Given the description of an element on the screen output the (x, y) to click on. 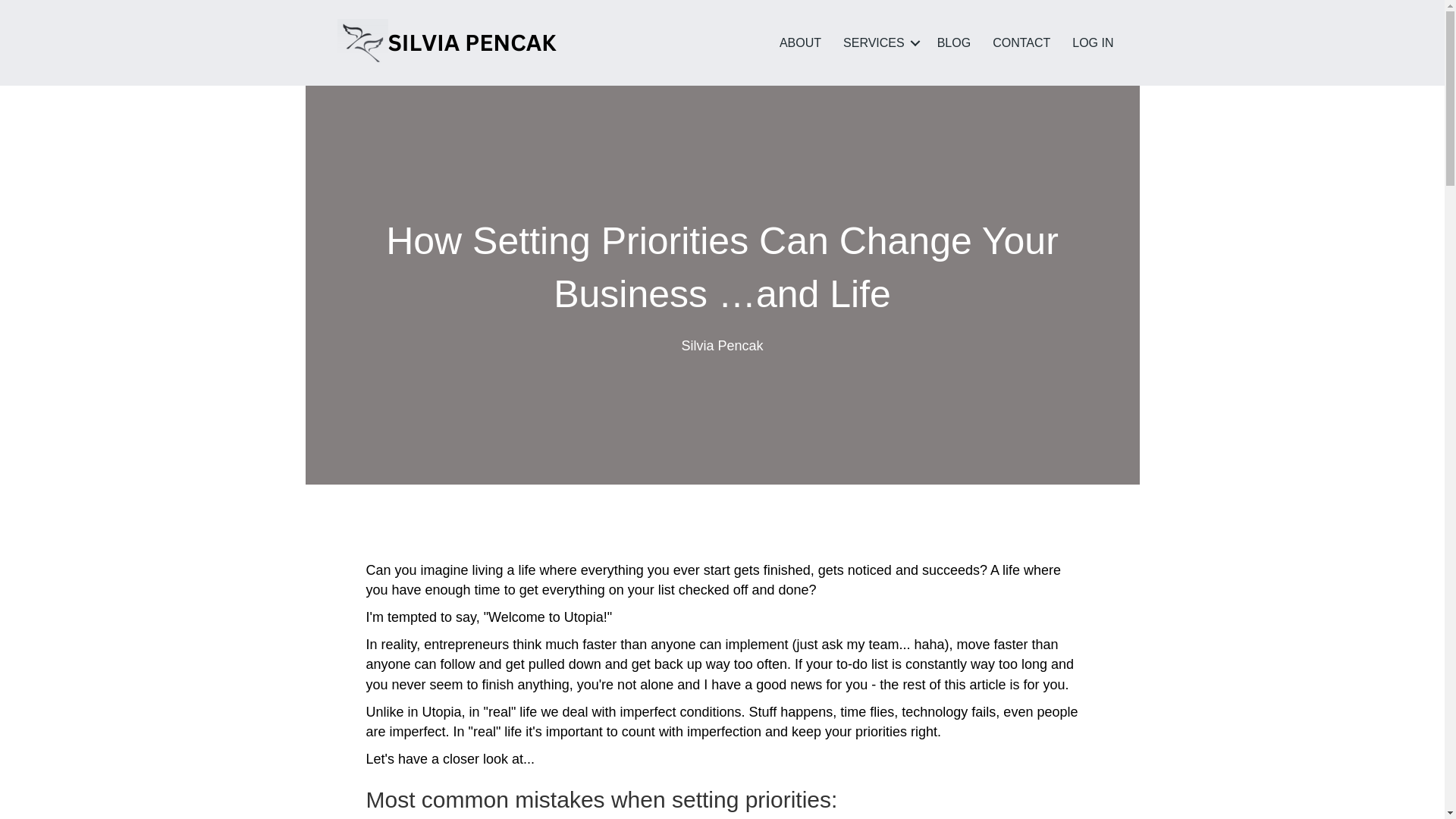
BLOG (953, 41)
Silvia Pencak Logo Black (450, 42)
CONTACT (1021, 41)
ABOUT (799, 41)
LOG IN (1092, 41)
Silvia Pencak (721, 345)
SERVICES (879, 41)
